Given the description of an element on the screen output the (x, y) to click on. 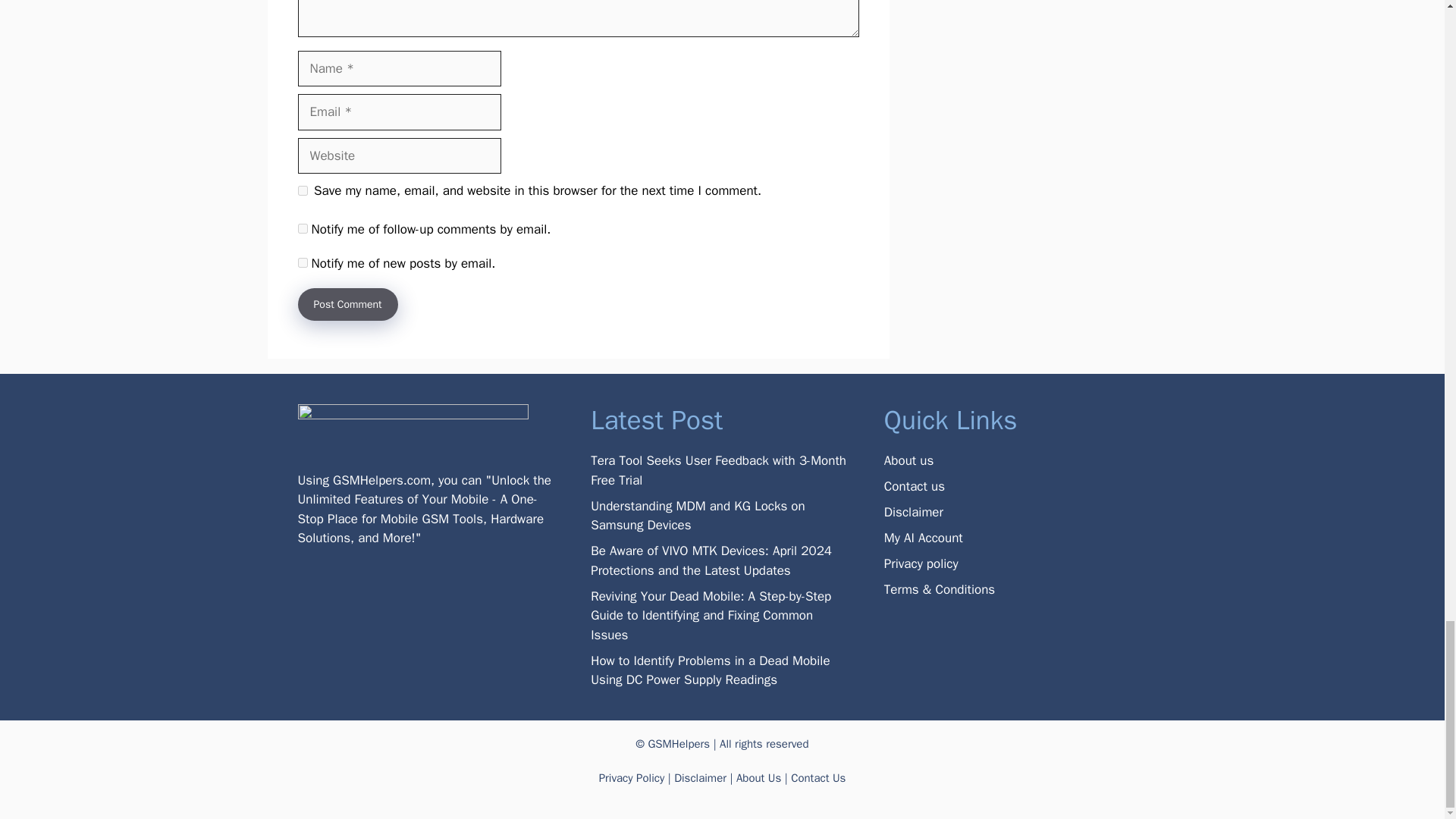
yes (302, 190)
subscribe (302, 228)
Post Comment (347, 304)
subscribe (302, 262)
